Given the description of an element on the screen output the (x, y) to click on. 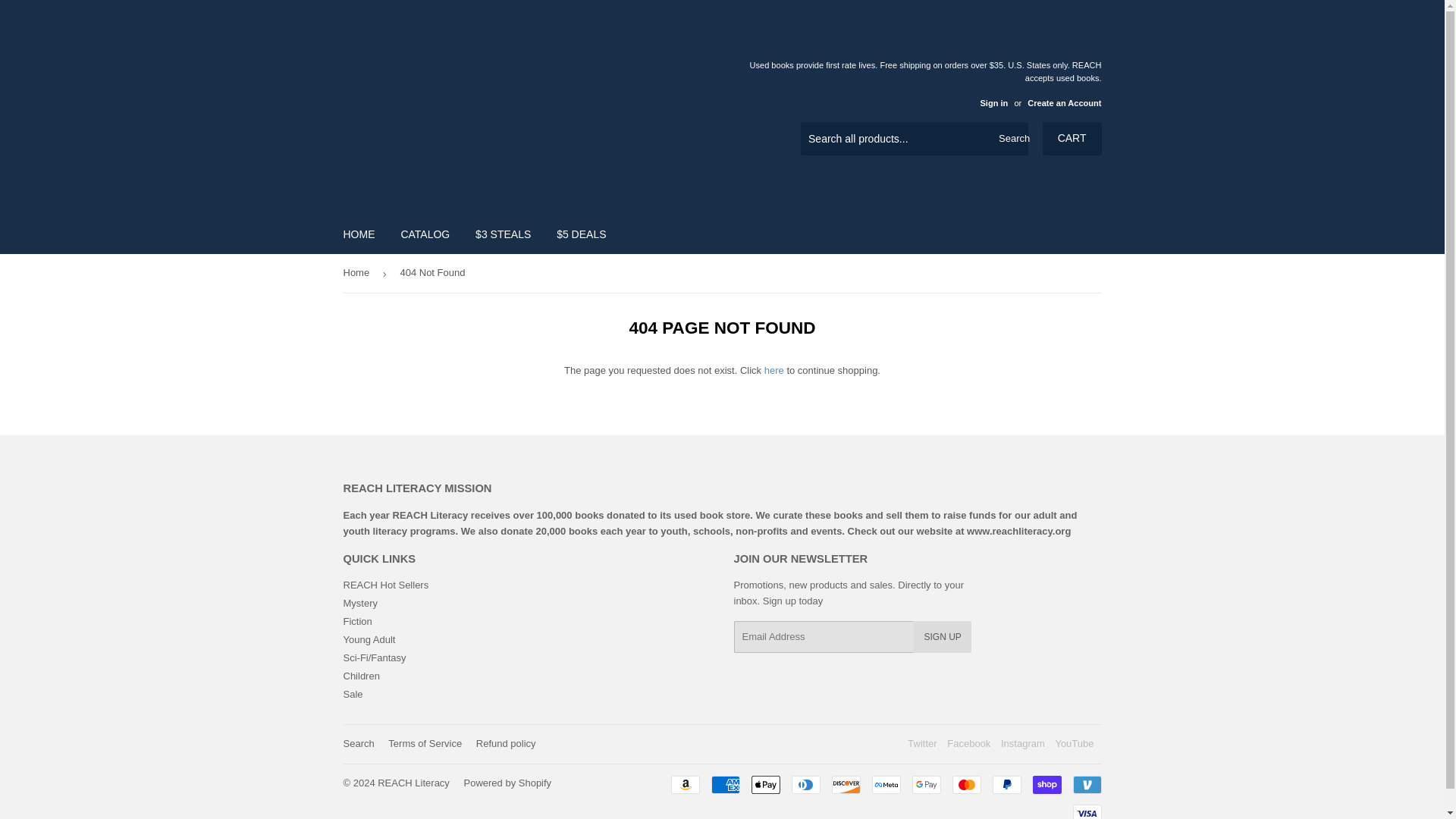
REACH Literacy (413, 782)
Sign in (993, 102)
YouTube (1073, 743)
Mystery (359, 603)
Google Pay (925, 784)
Diners Club (806, 784)
Instagram (1023, 743)
Young Adult (368, 639)
REACH Literacy on Twitter (921, 743)
REACH Literacy on Instagram (1023, 743)
Shop Pay (1046, 784)
www.reachliteracy.org (1018, 531)
PayPal (1005, 784)
Facebook (968, 743)
Venmo (1085, 784)
